Given the description of an element on the screen output the (x, y) to click on. 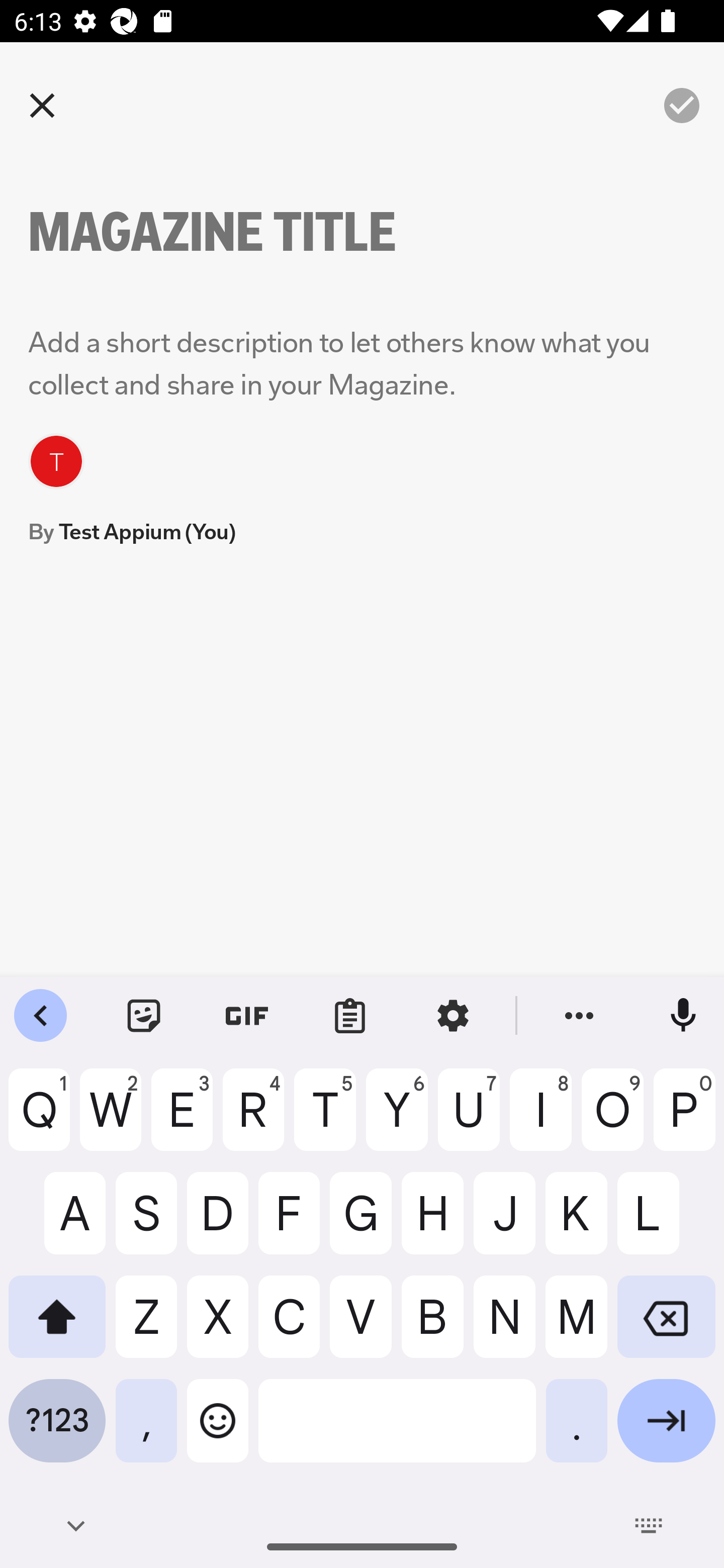
MAGAZINE TITLE (246, 231)
